Given the description of an element on the screen output the (x, y) to click on. 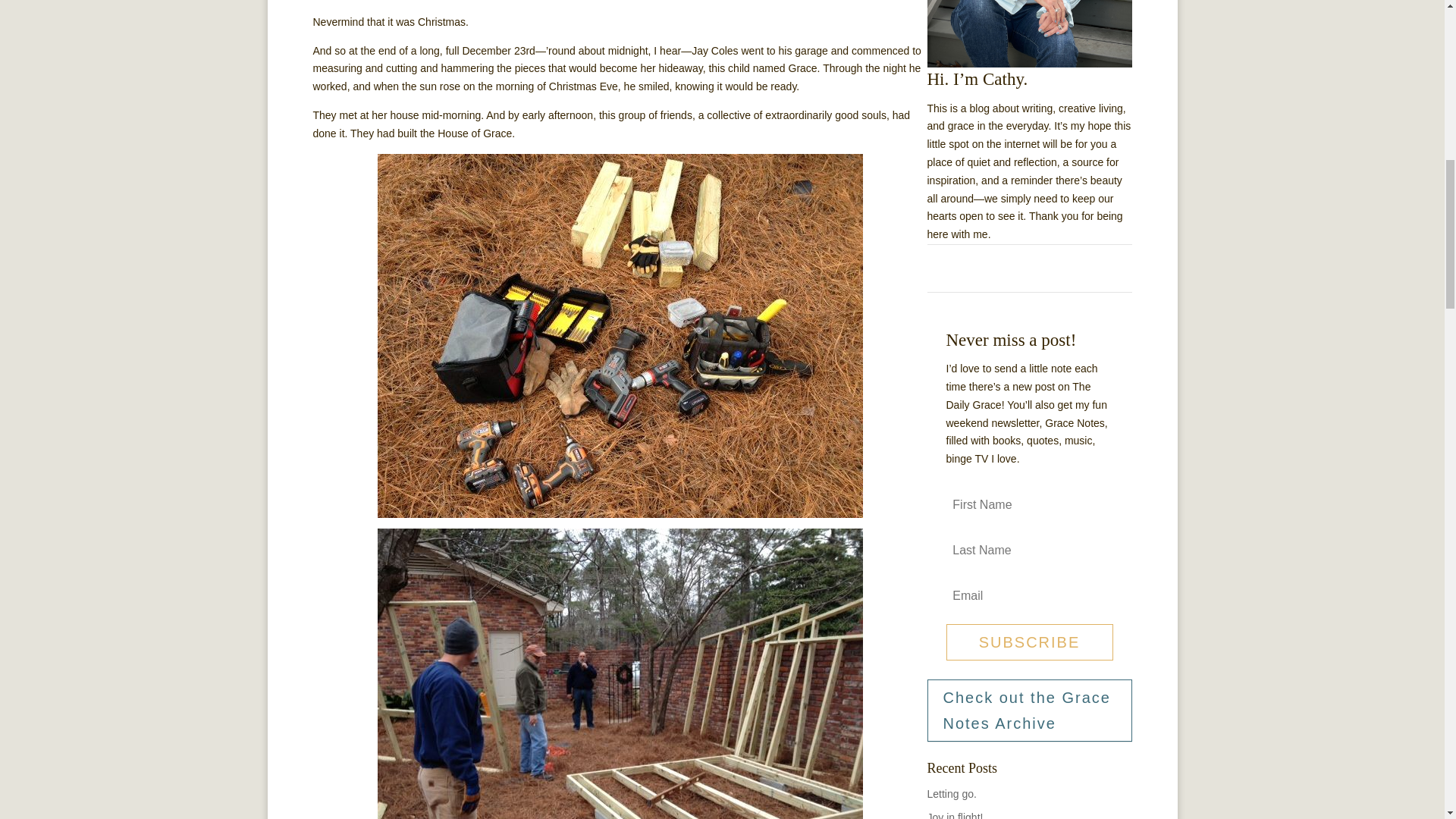
Check out the Grace Notes Archive (1028, 710)
Letting go. (950, 793)
SUBSCRIBE (1029, 642)
CRW home (1028, 33)
Joy in flight! (954, 815)
